Given the description of an element on the screen output the (x, y) to click on. 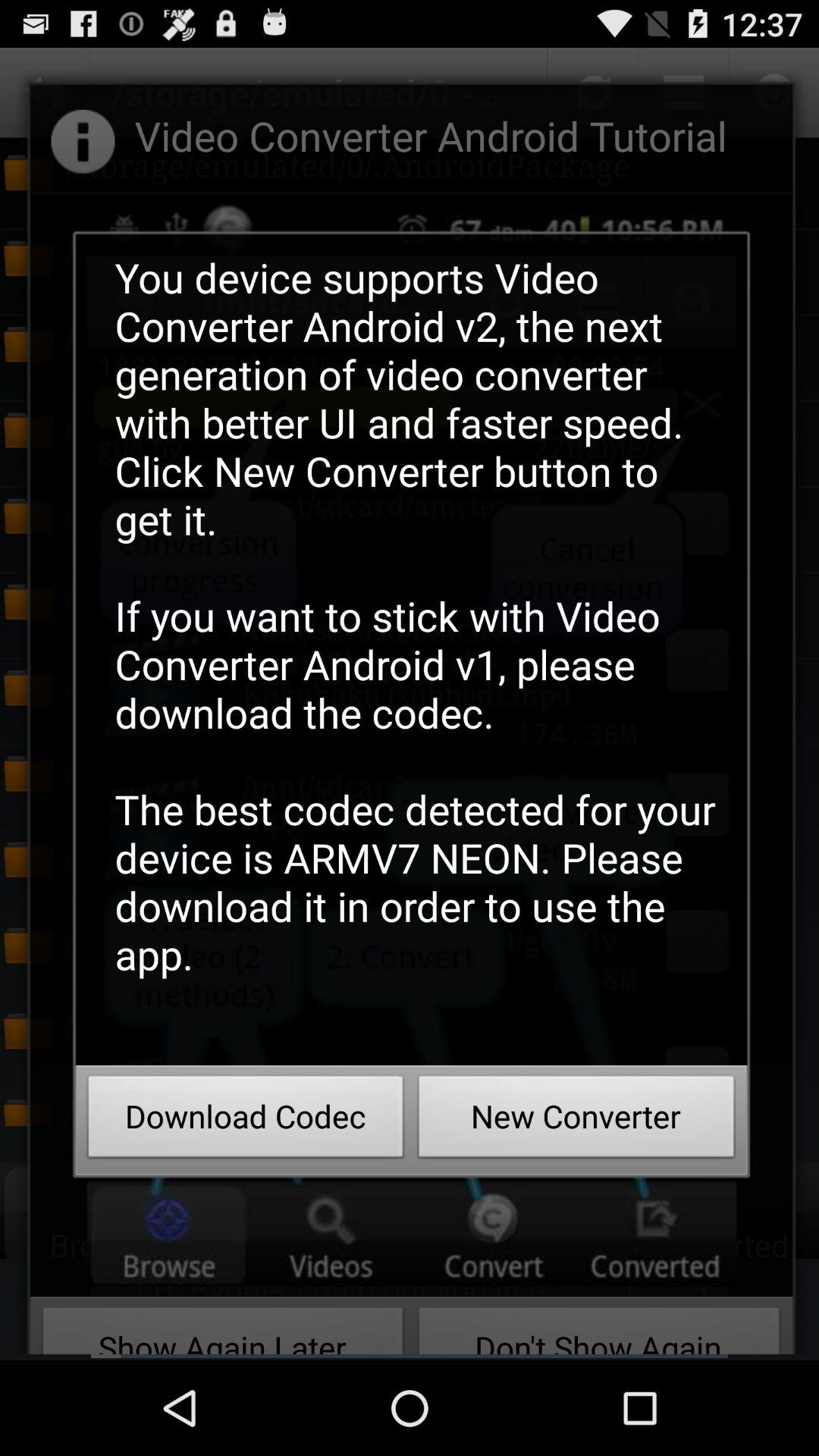
flip to the download codec item (245, 1120)
